Given the description of an element on the screen output the (x, y) to click on. 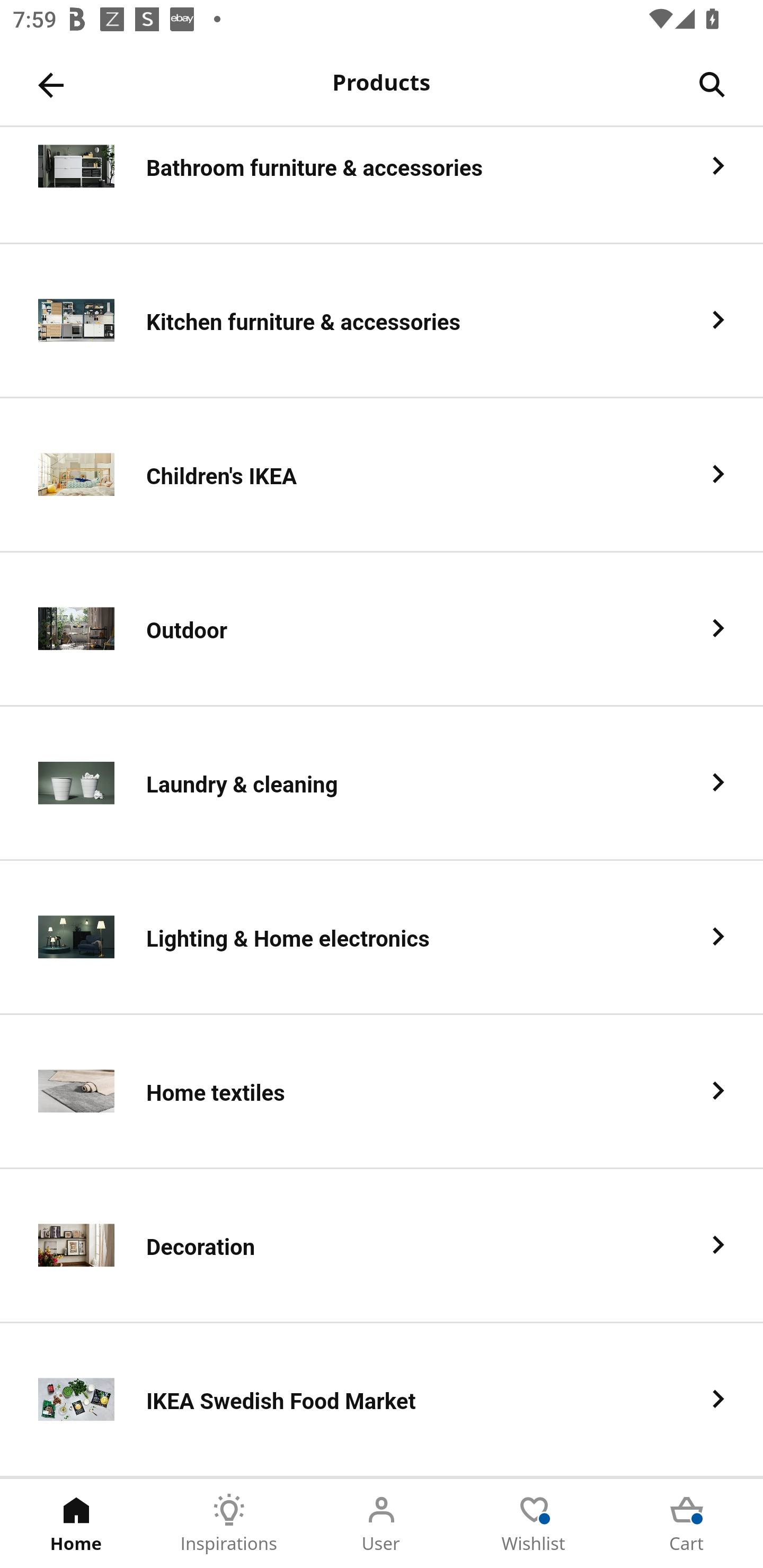
Bathroom furniture & accessories (381, 185)
Kitchen furniture & accessories (381, 321)
Children's IKEA (381, 474)
Outdoor (381, 629)
Laundry & cleaning (381, 783)
Lighting & Home electronics (381, 937)
Home textiles (381, 1091)
Decoration (381, 1246)
IKEA Swedish Food Market (381, 1400)
Home
Tab 1 of 5 (76, 1522)
Inspirations
Tab 2 of 5 (228, 1522)
User
Tab 3 of 5 (381, 1522)
Wishlist
Tab 4 of 5 (533, 1522)
Cart
Tab 5 of 5 (686, 1522)
